Given the description of an element on the screen output the (x, y) to click on. 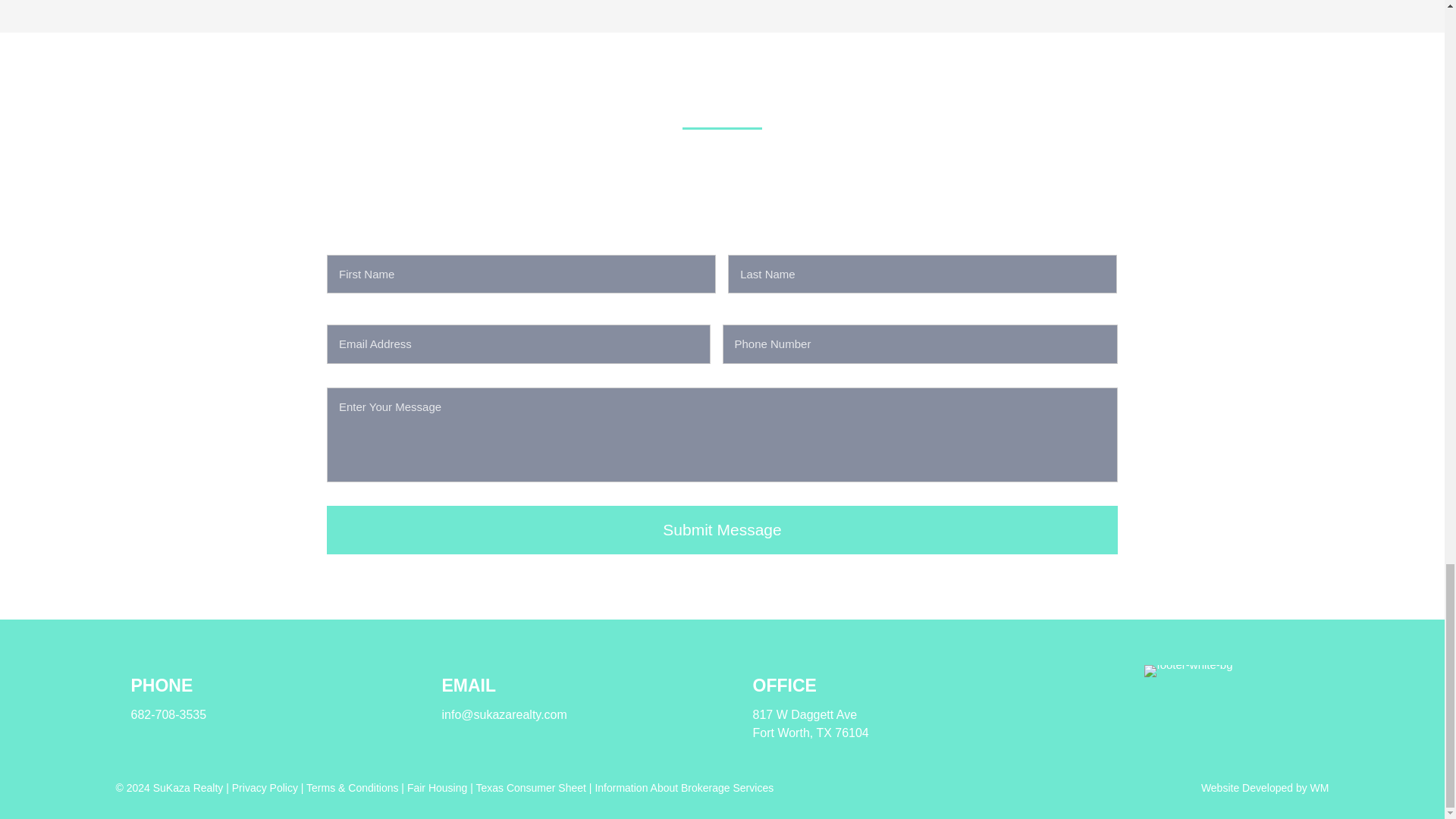
Texas Consumer Sheet (531, 787)
footer-white-bg (1187, 671)
Submit Message (722, 530)
Submit Message (722, 530)
Privacy Policy (264, 787)
WM (1319, 787)
Information About Brokerage Services (683, 787)
Fair Housing (437, 787)
